Given the description of an element on the screen output the (x, y) to click on. 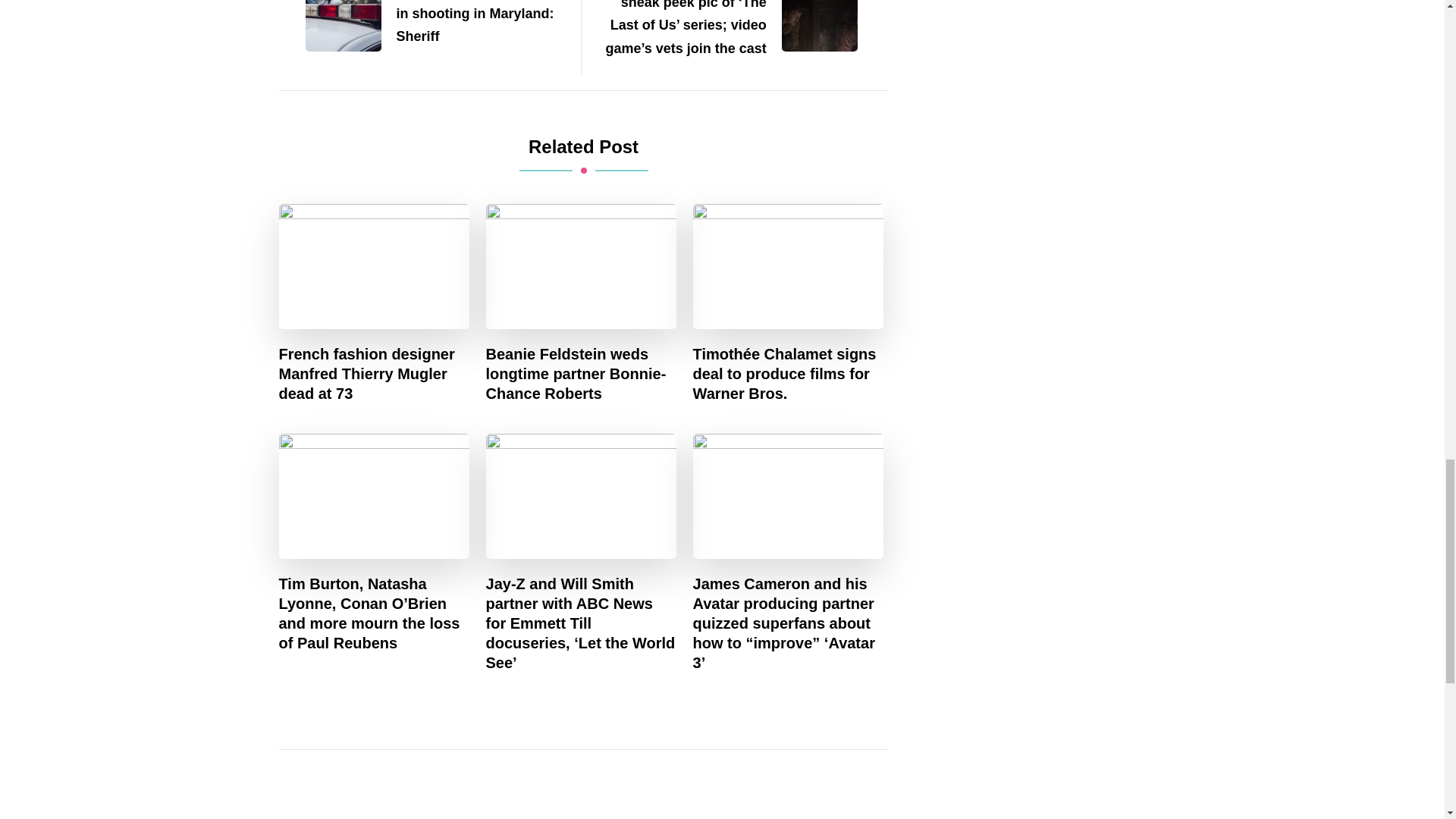
French fashion designer Manfred Thierry Mugler dead at 73 (374, 373)
Beanie Feldstein weds longtime partner Bonnie-Chance Roberts (581, 373)
Multiple victims reported in shooting in Maryland: Sheriff (421, 24)
